Given the description of an element on the screen output the (x, y) to click on. 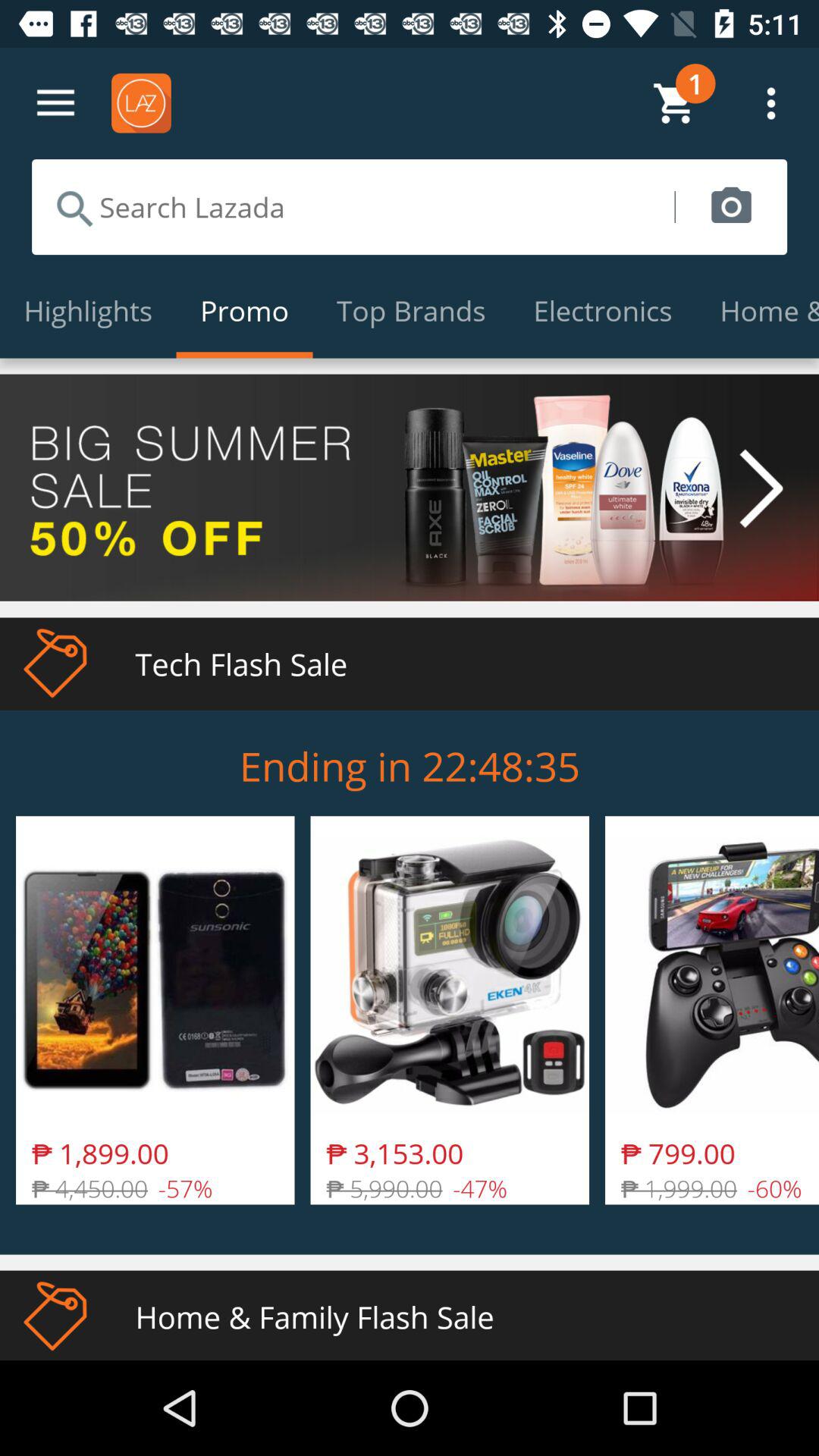
search (352, 206)
